Given the description of an element on the screen output the (x, y) to click on. 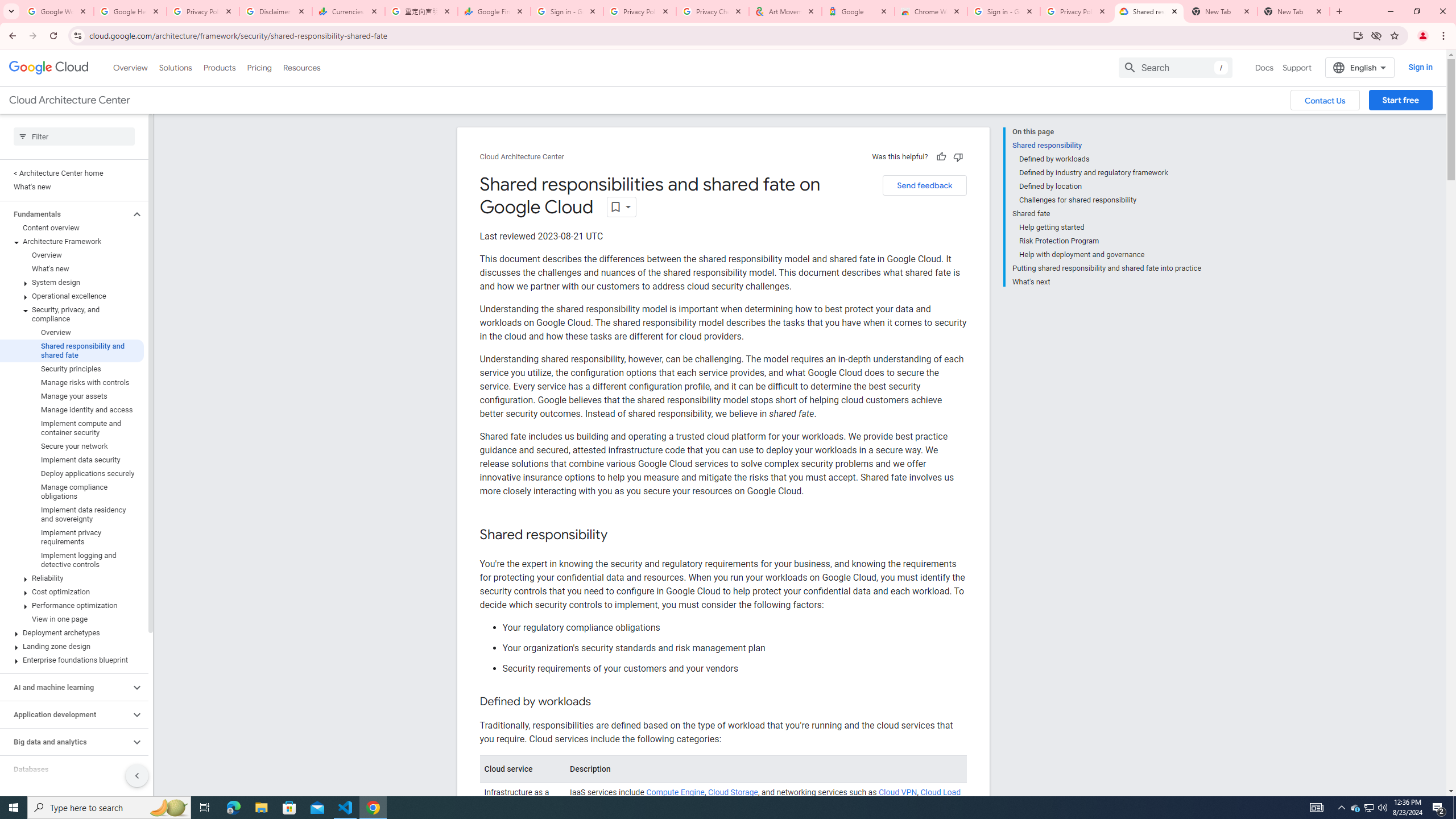
Hybrid and multicloud (64, 796)
Implement data security (72, 459)
New Tab (1293, 11)
Open dropdown (620, 206)
Chrome Web Store - Color themes by Chrome (930, 11)
Defined by location (1110, 186)
Install Google Cloud (1358, 35)
Cloud VPN (897, 792)
Landing zone design (72, 646)
Implement data residency and sovereignty (72, 514)
Performance optimization (72, 605)
